Given the description of an element on the screen output the (x, y) to click on. 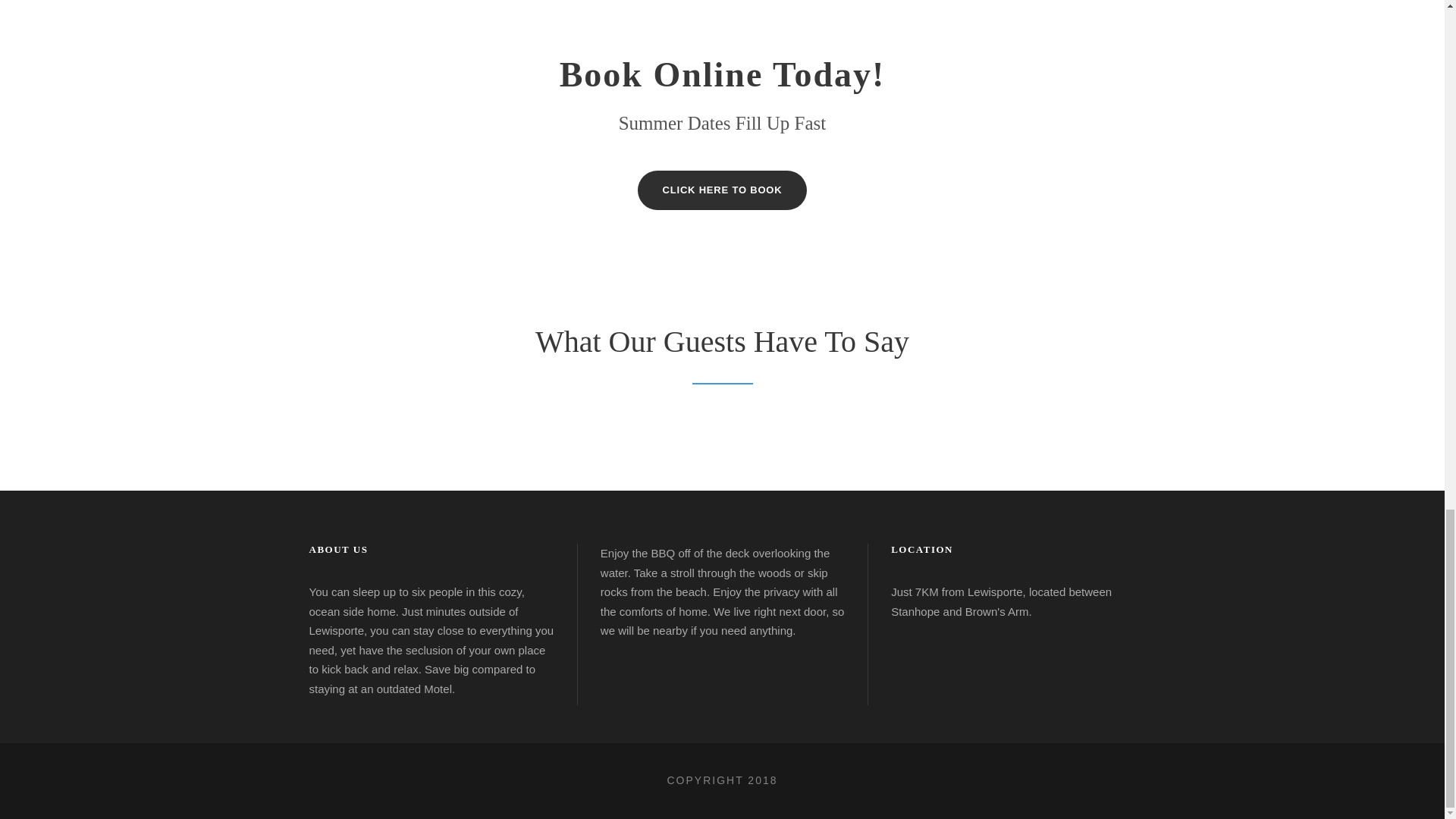
CLICK HERE TO BOOK (722, 190)
